Given the description of an element on the screen output the (x, y) to click on. 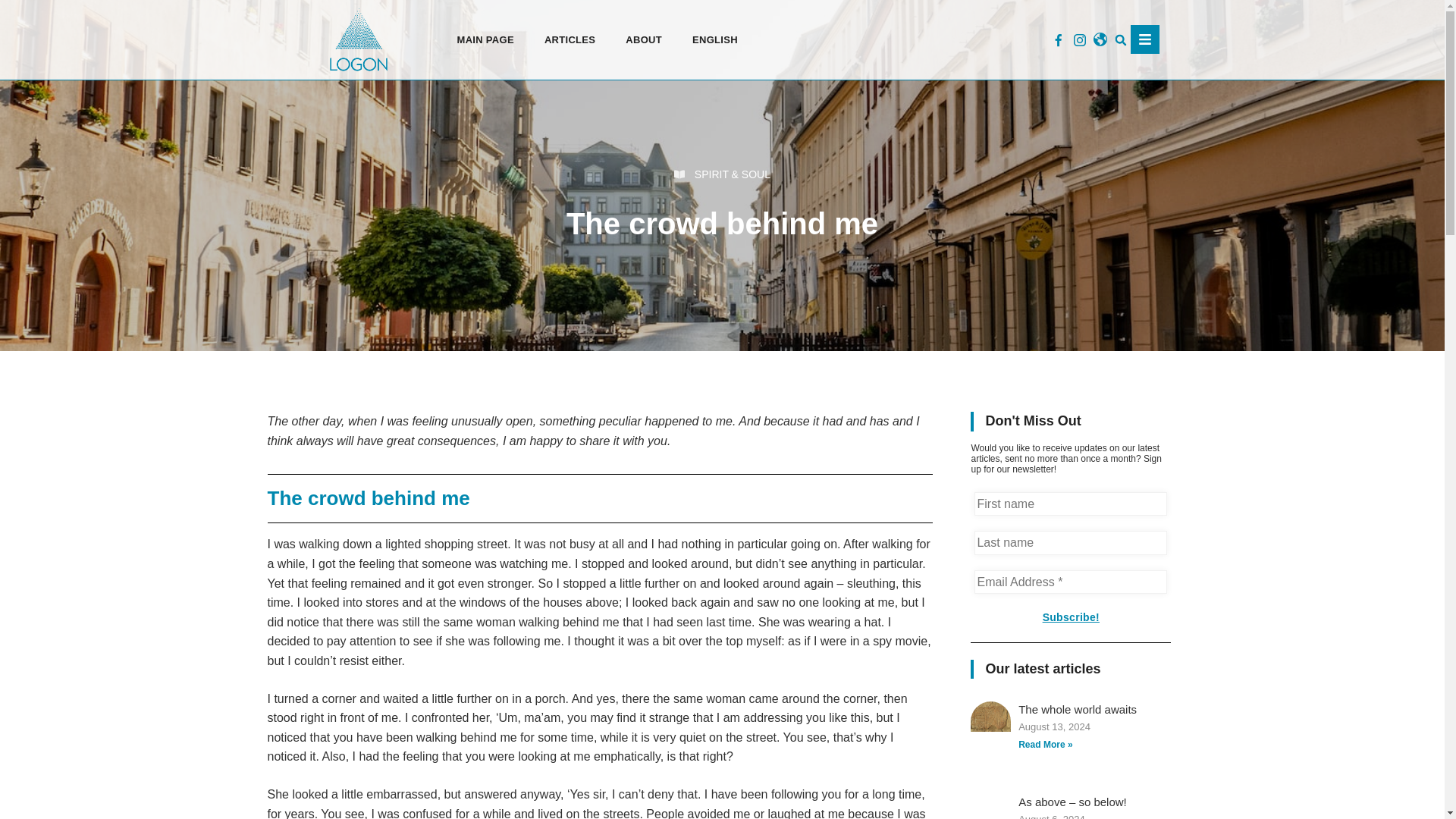
Subscribe! (1070, 618)
ABOUT (643, 39)
ARTICLES (569, 39)
English (714, 39)
ENGLISH (714, 39)
MAIN PAGE (484, 39)
